Given the description of an element on the screen output the (x, y) to click on. 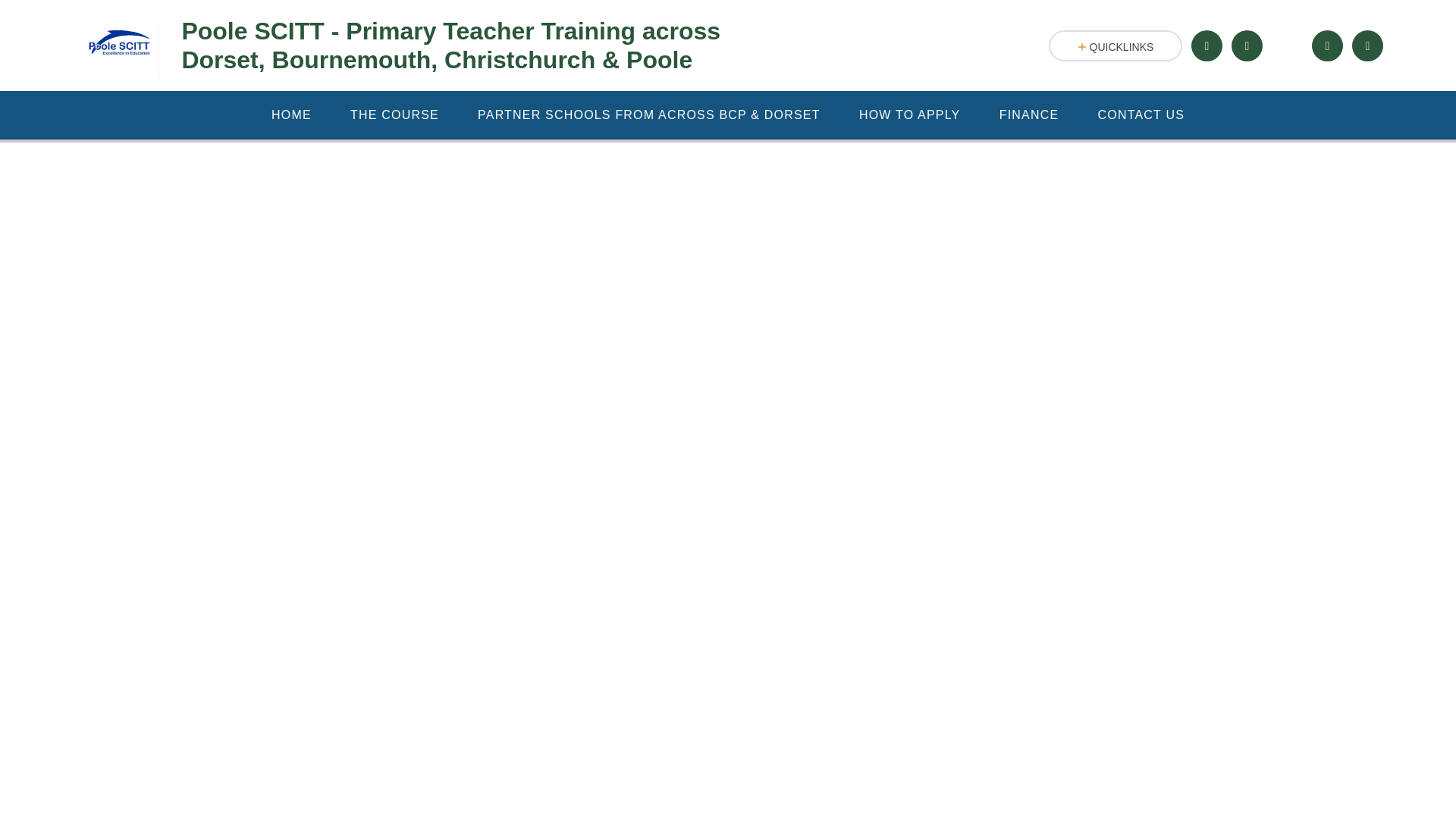
FINANCE (1028, 114)
HOW TO APPLY (909, 114)
CONTACT US (1141, 114)
HOME (290, 114)
THE COURSE (394, 114)
